Given the description of an element on the screen output the (x, y) to click on. 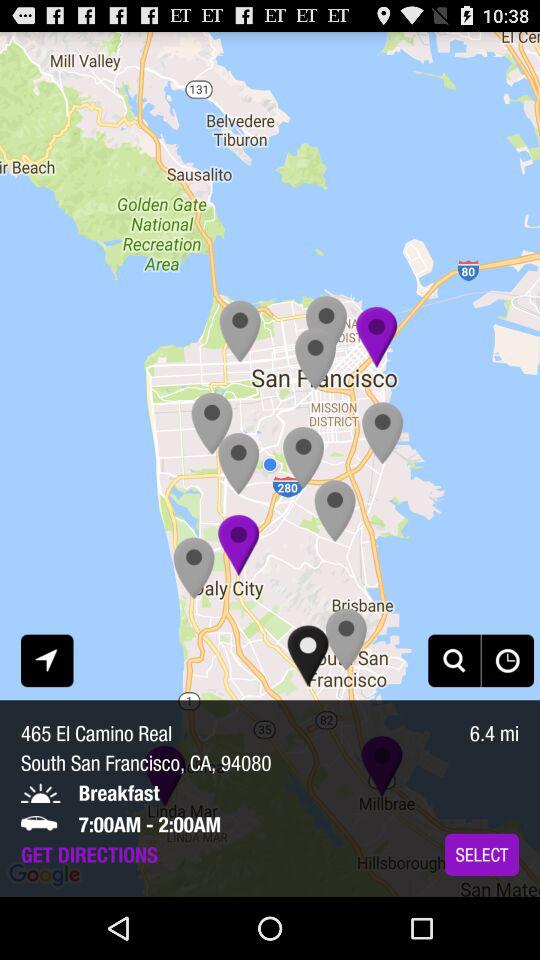
turn on icon at the center (270, 463)
